Given the description of an element on the screen output the (x, y) to click on. 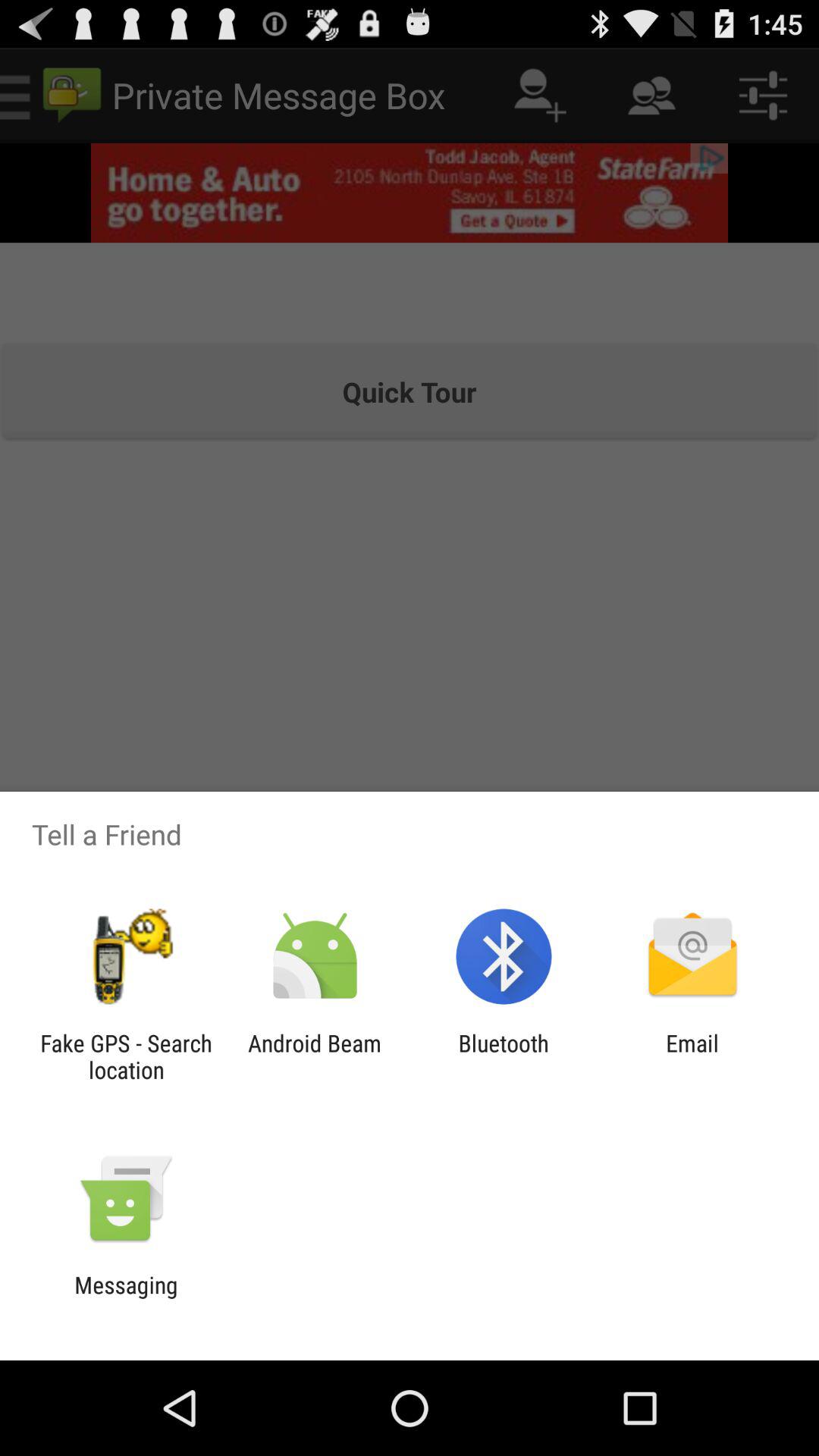
select fake gps search icon (125, 1056)
